Given the description of an element on the screen output the (x, y) to click on. 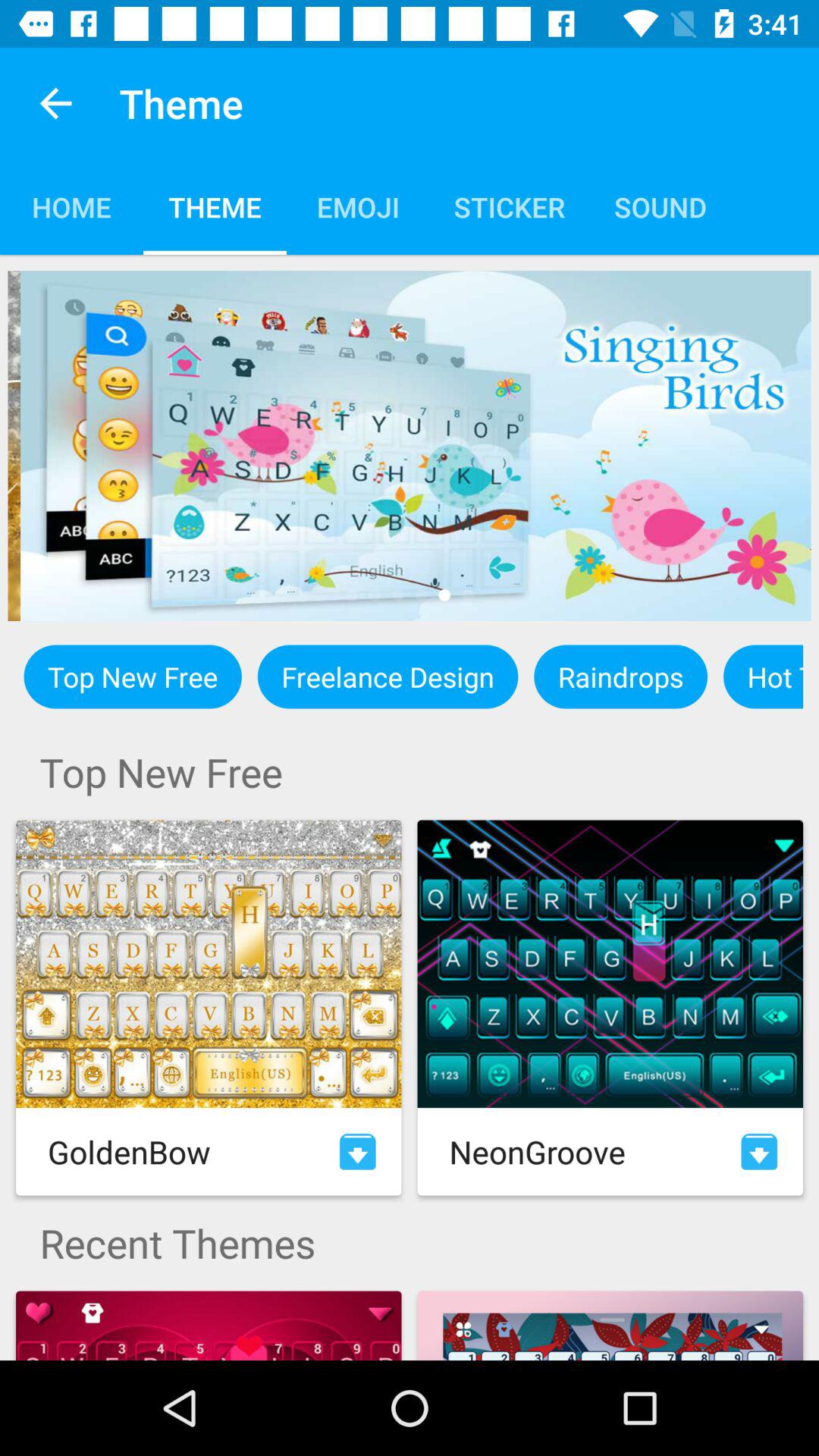
download game (759, 1151)
